Given the description of an element on the screen output the (x, y) to click on. 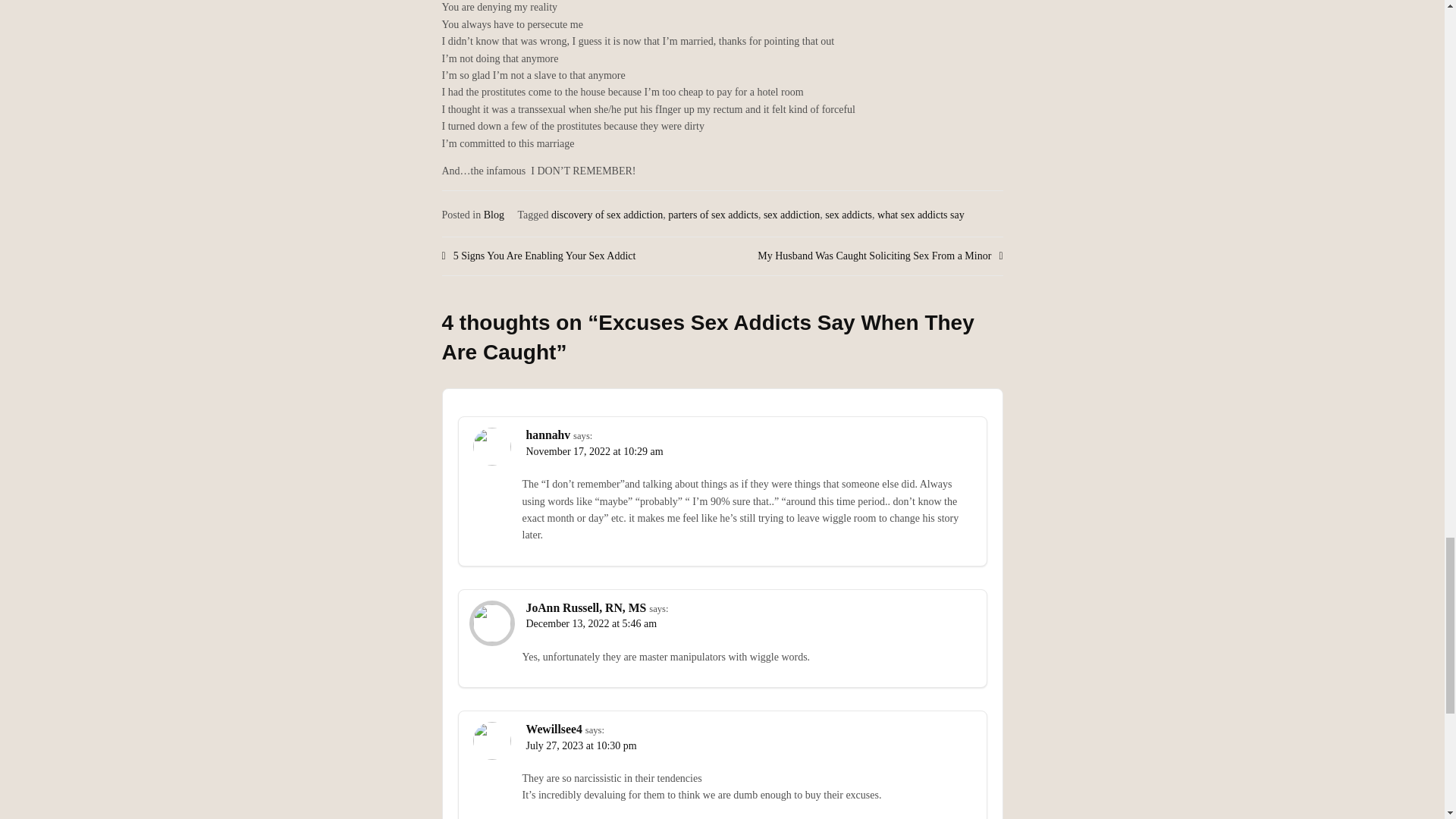
sex addicts (848, 214)
parters of sex addicts (713, 214)
sex addiction (790, 214)
Blog (493, 214)
discovery of sex addiction (606, 214)
